Given the description of an element on the screen output the (x, y) to click on. 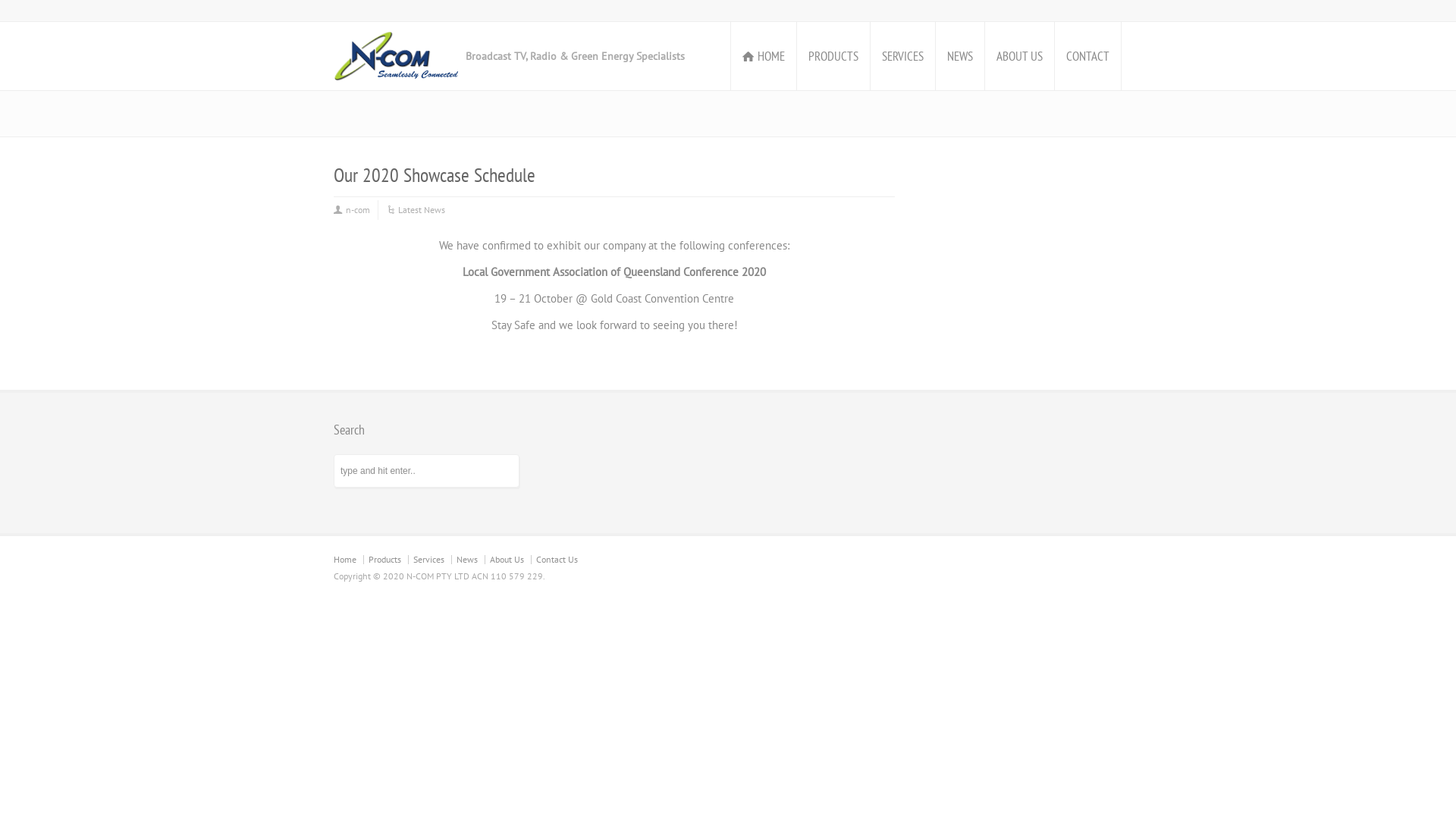
HOME Element type: text (763, 55)
Contact Us Element type: text (556, 558)
NEWS Element type: text (959, 55)
Home Element type: text (344, 558)
Services Element type: text (428, 558)
News Element type: text (466, 558)
PRODUCTS Element type: text (833, 55)
SERVICES Element type: text (902, 55)
ABOUT US Element type: text (1019, 55)
Latest News Element type: text (421, 209)
About Us Element type: text (506, 558)
CONTACT Element type: text (1087, 55)
Products Element type: text (384, 558)
N-Com Element type: hover (395, 55)
n-com Element type: text (357, 209)
